Given the description of an element on the screen output the (x, y) to click on. 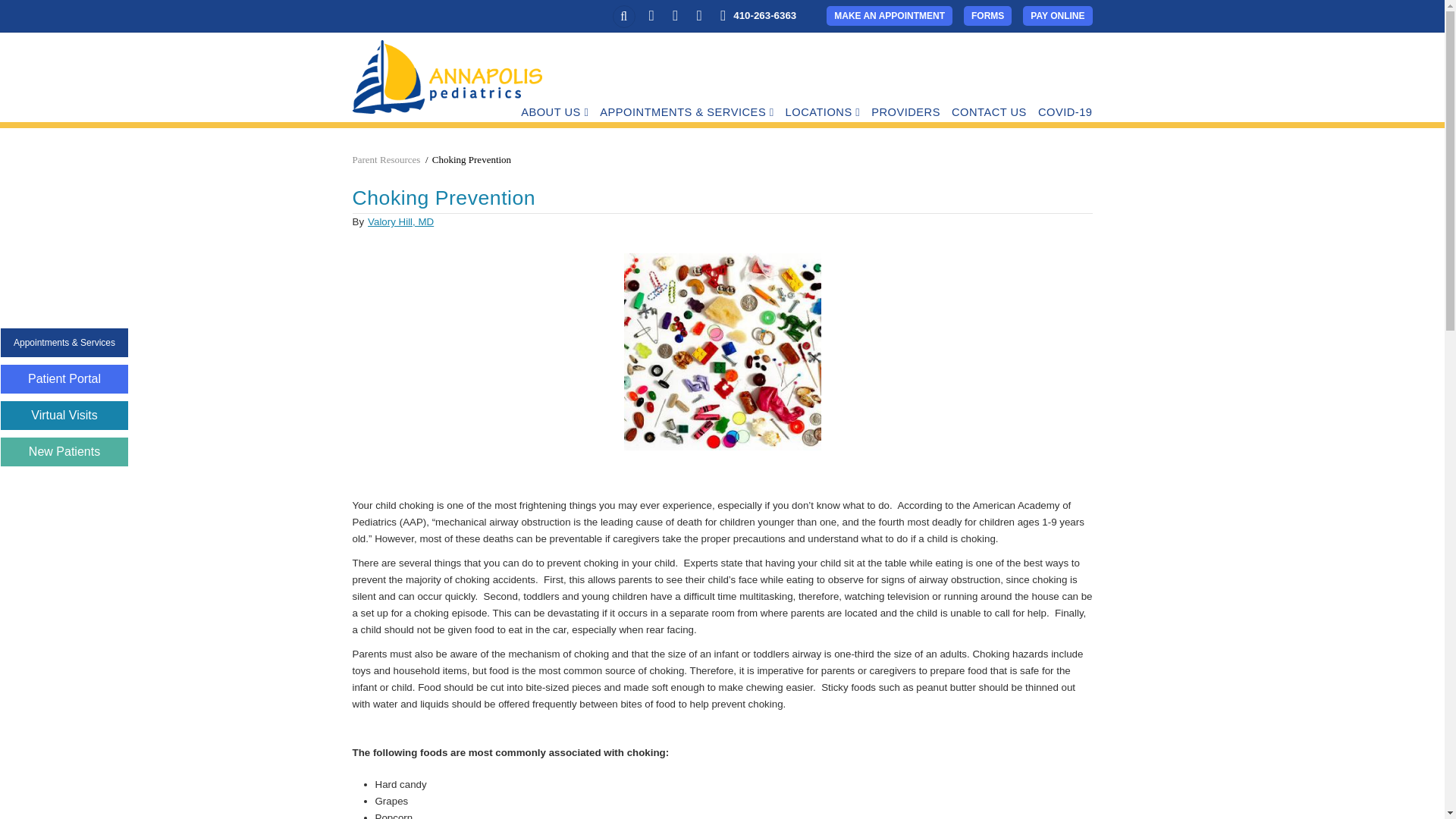
Home (446, 75)
FORMS (987, 15)
Search (555, 80)
PAY ONLINE (1057, 15)
COVID-19 (1065, 112)
ABOUT US (554, 112)
MAKE AN APPOINTMENT (889, 15)
LOCATIONS (823, 112)
PROVIDERS (905, 112)
CONTACT US (989, 112)
